Given the description of an element on the screen output the (x, y) to click on. 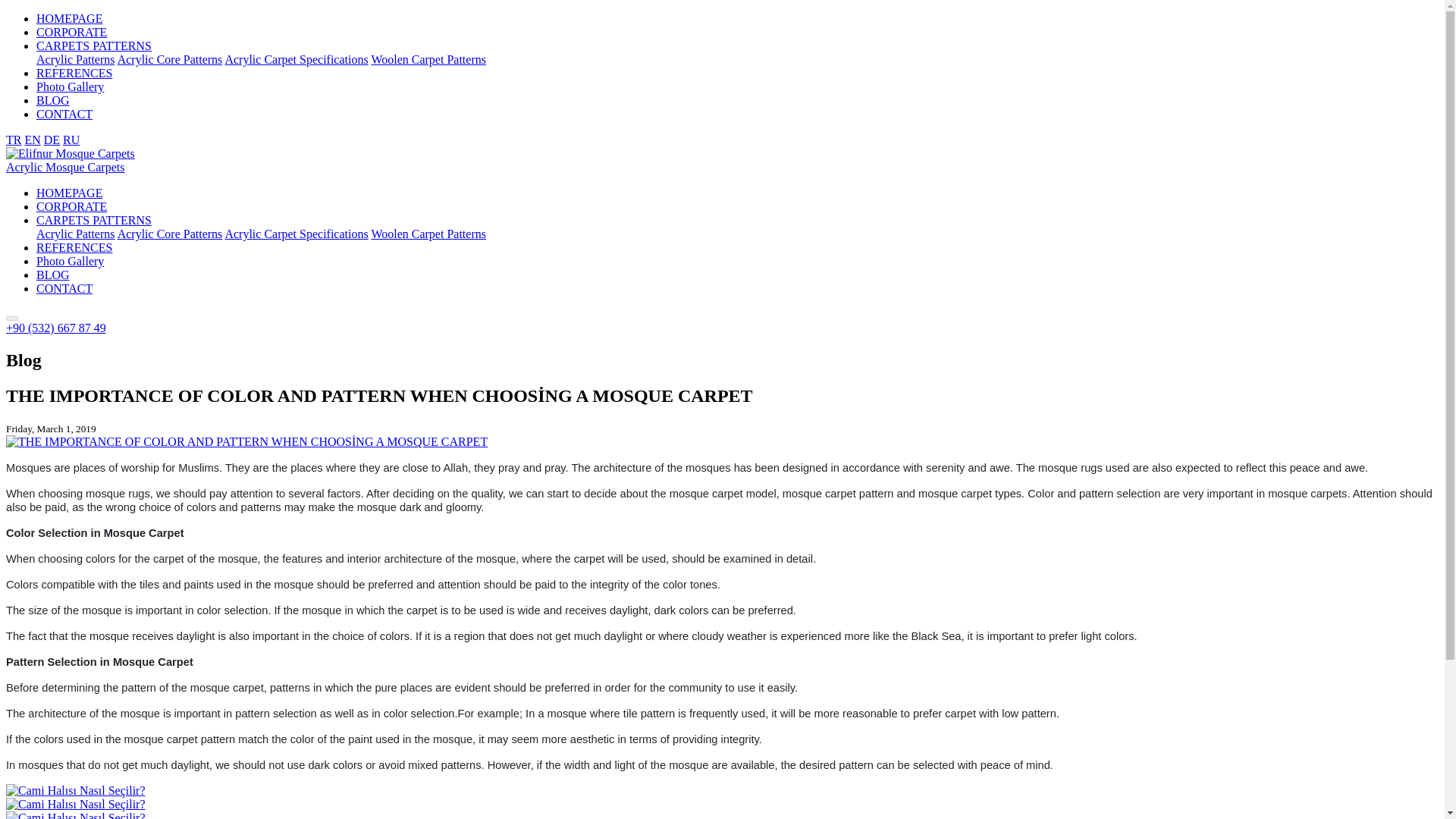
Acrylic Carpet Specifications (296, 59)
Acrylic Patterns (75, 233)
Acrylic Carpet Specifications (296, 59)
TR (13, 139)
Acrylic Core Patterns (169, 59)
BLOG (52, 100)
CONTACT (64, 287)
BLOG (52, 274)
CONTACT (64, 113)
REFERENCES (74, 72)
RU (71, 139)
Acrylic Core Patterns (169, 233)
REFERENCES (74, 246)
Photo Gallery (69, 86)
CORPORATE (71, 205)
